Given the description of an element on the screen output the (x, y) to click on. 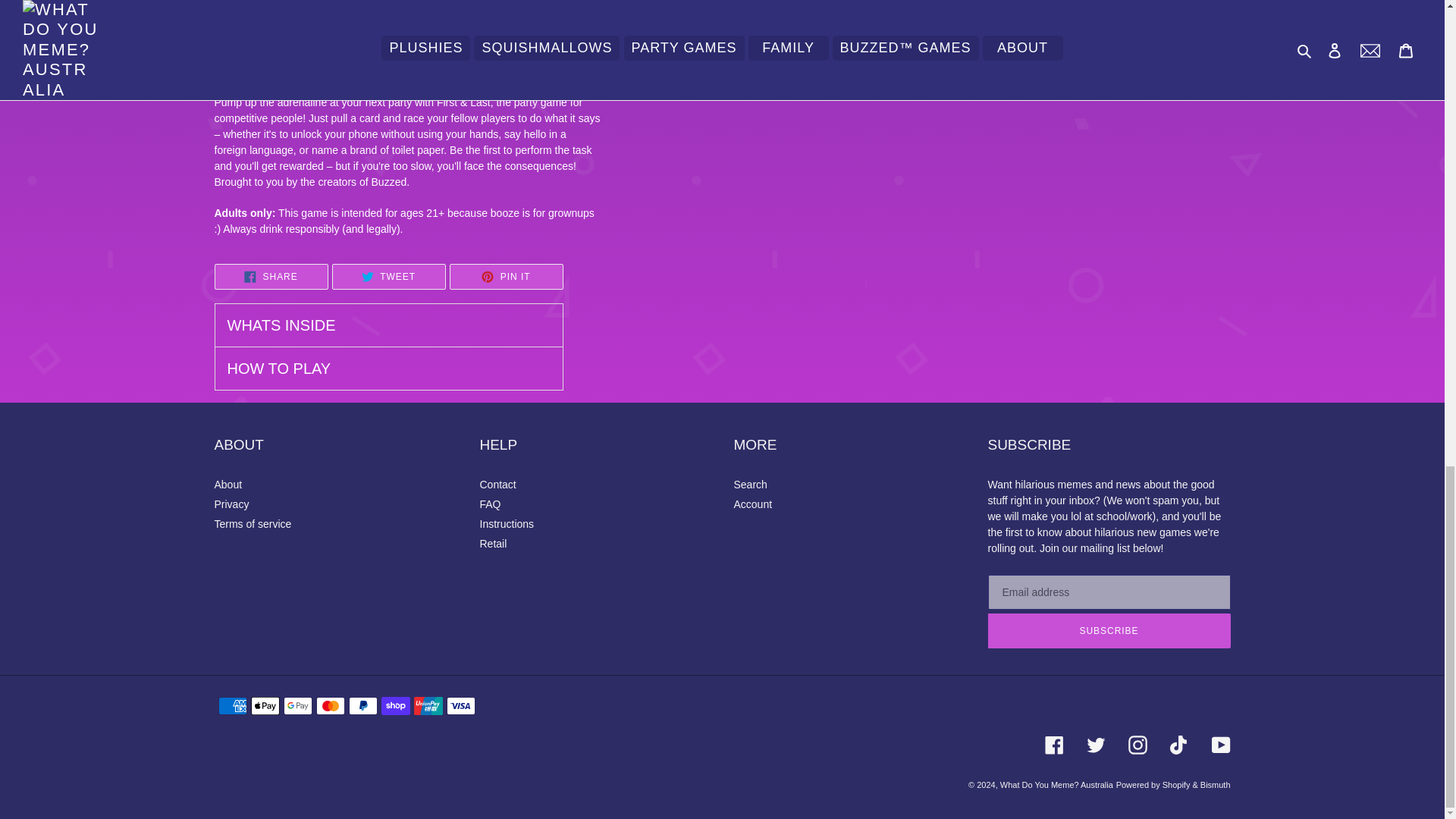
Mastercard (329, 705)
Privacy (231, 503)
PayPal (363, 705)
Contact (497, 484)
Visa (459, 705)
Apple Pay (264, 705)
Shop Pay (394, 705)
American Express (232, 705)
About (227, 484)
Union Pay (427, 705)
